Given the description of an element on the screen output the (x, y) to click on. 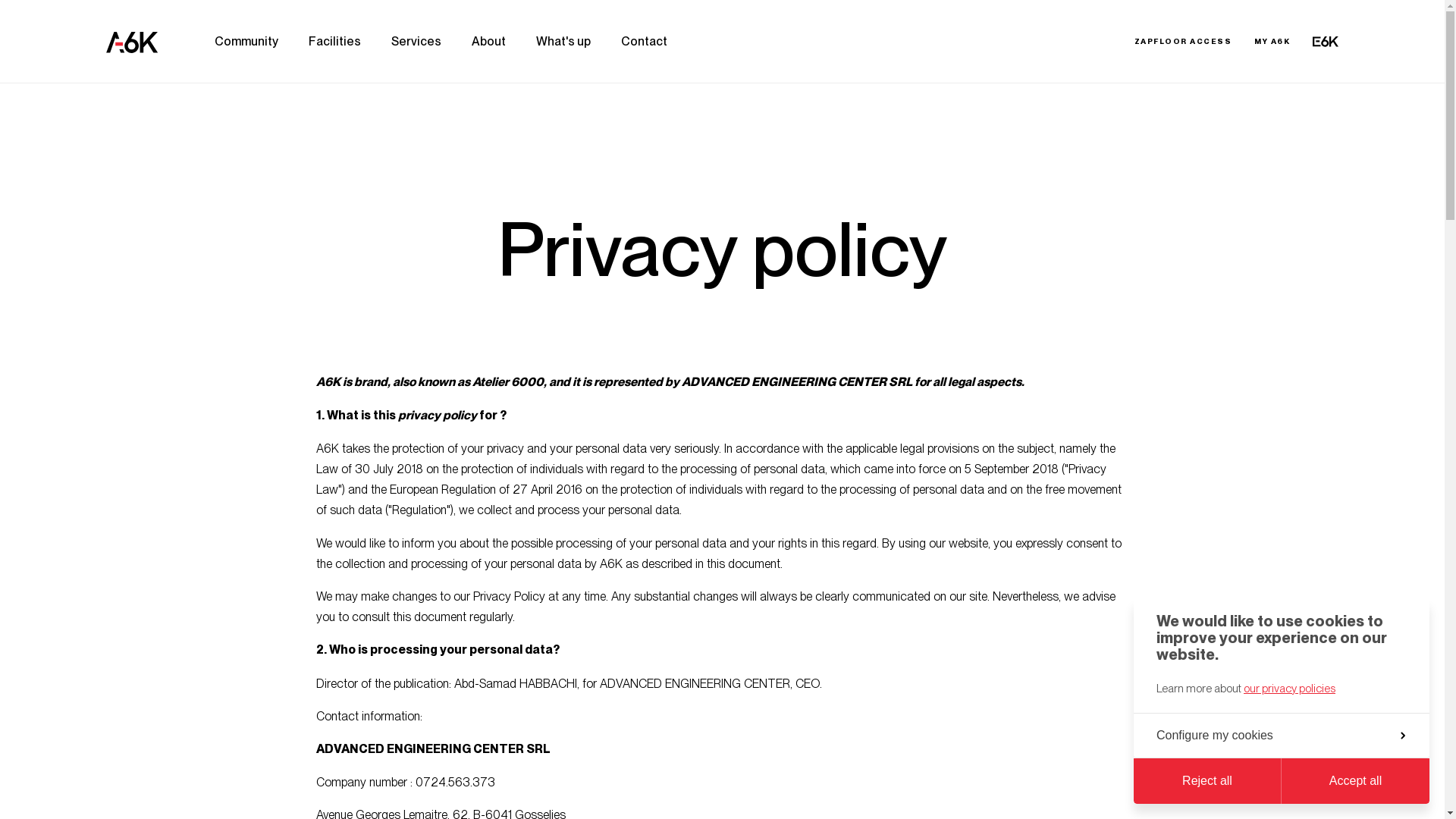
MY A6K Element type: text (1271, 41)
Accept all Element type: text (1355, 780)
A6K EN Element type: text (131, 41)
Contact Element type: text (643, 41)
Community Element type: text (246, 41)
What's up Element type: text (562, 41)
Configure my cookies Element type: text (1281, 735)
our privacy policies Element type: text (1289, 686)
About Element type: text (488, 41)
Services Element type: text (416, 41)
Facilities Element type: text (334, 41)
Reject all Element type: text (1207, 780)
E6K Element type: text (1325, 41)
ZAPFLOOR ACCESS Element type: text (1183, 41)
